Given the description of an element on the screen output the (x, y) to click on. 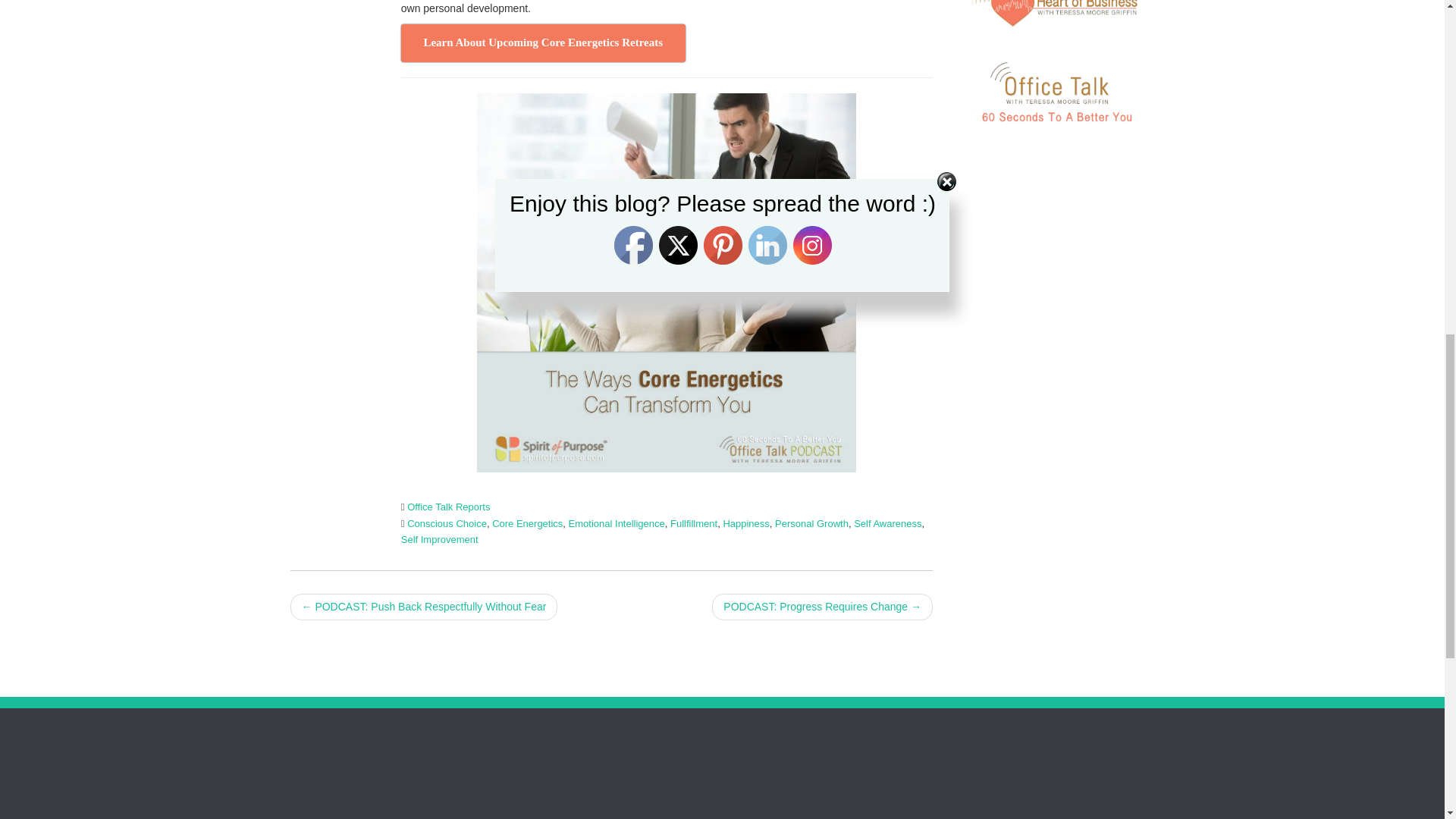
Learn About Upcoming Core Energetics Retreats (543, 43)
